Given the description of an element on the screen output the (x, y) to click on. 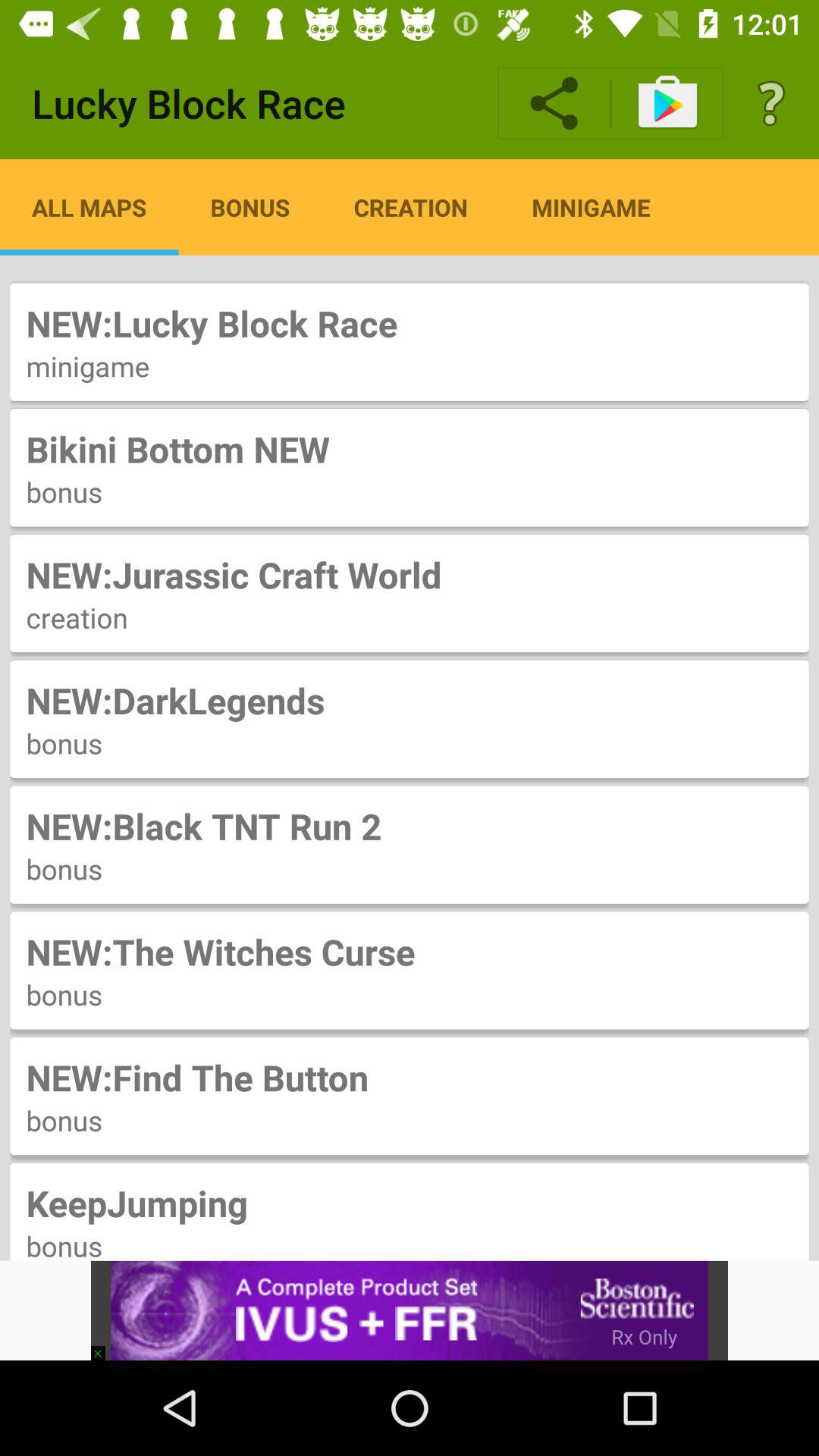
turn on icon below lucky block race icon (89, 207)
